Given the description of an element on the screen output the (x, y) to click on. 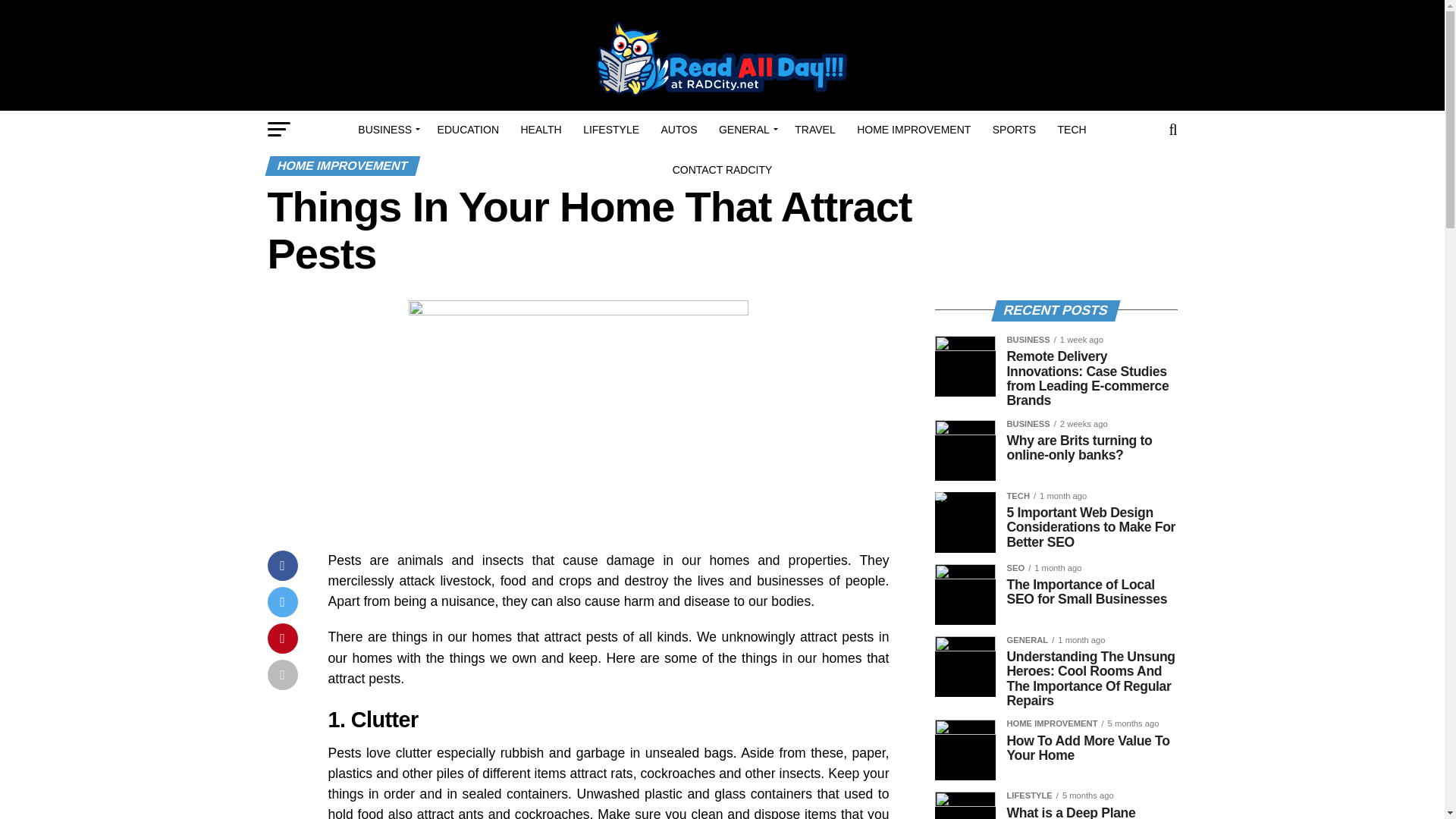
AUTOS (679, 129)
HOME IMPROVEMENT (913, 129)
TRAVEL (815, 129)
CONTACT RADCITY (722, 169)
TECH (1072, 129)
BUSINESS (387, 129)
LIFESTYLE (610, 129)
EDUCATION (468, 129)
SPORTS (1014, 129)
GENERAL (746, 129)
